Given the description of an element on the screen output the (x, y) to click on. 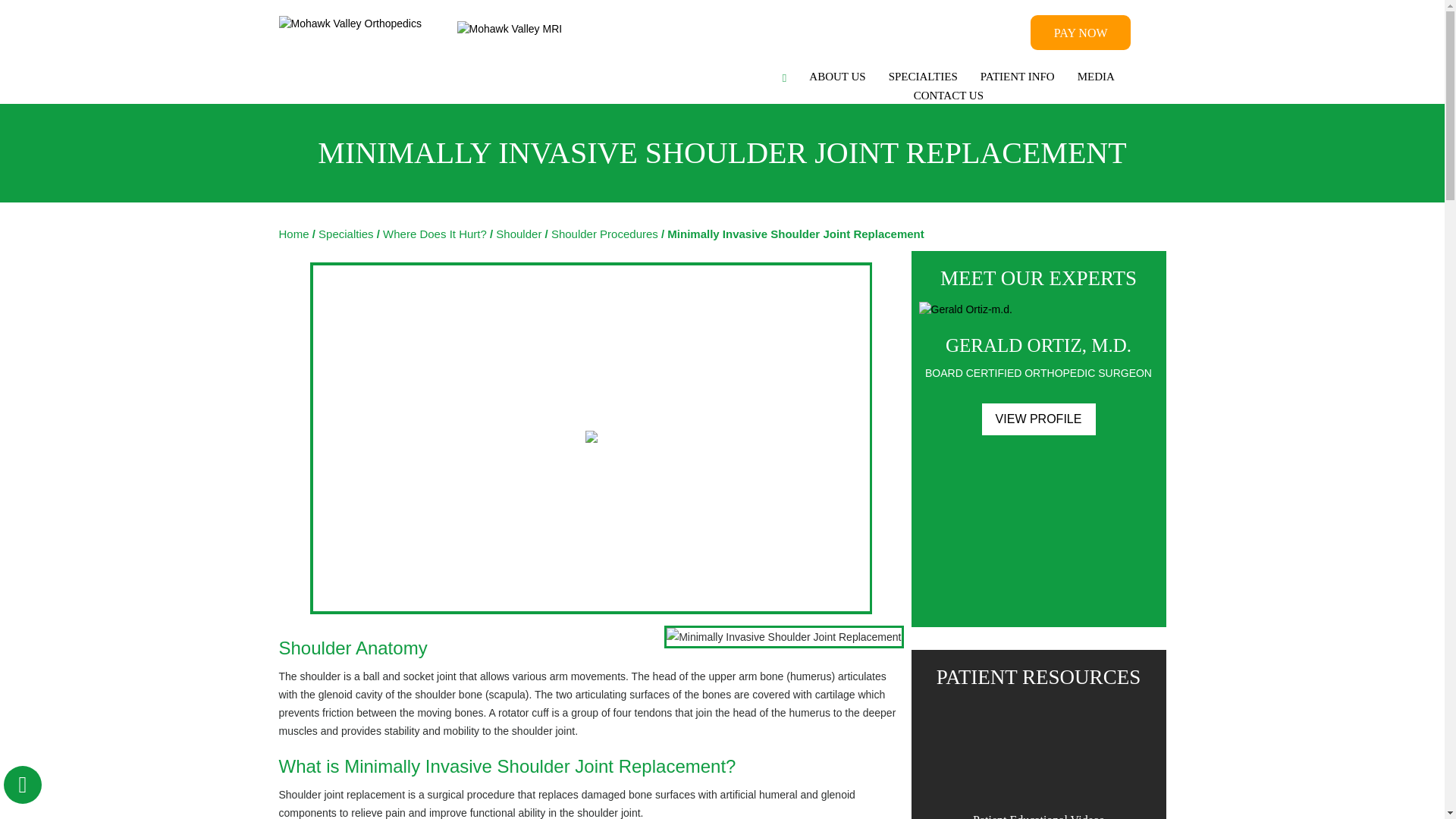
SPECIALTIES (923, 76)
Previous Slide (954, 596)
Hide (22, 784)
Next Slide (1117, 596)
Accessible Tool Options (23, 784)
PAY NOW (1080, 32)
BOOK AN APPOINTMENT (947, 34)
ABOUT US (836, 76)
MEDIA (1095, 76)
PATIENT INFO (1017, 76)
